Given the description of an element on the screen output the (x, y) to click on. 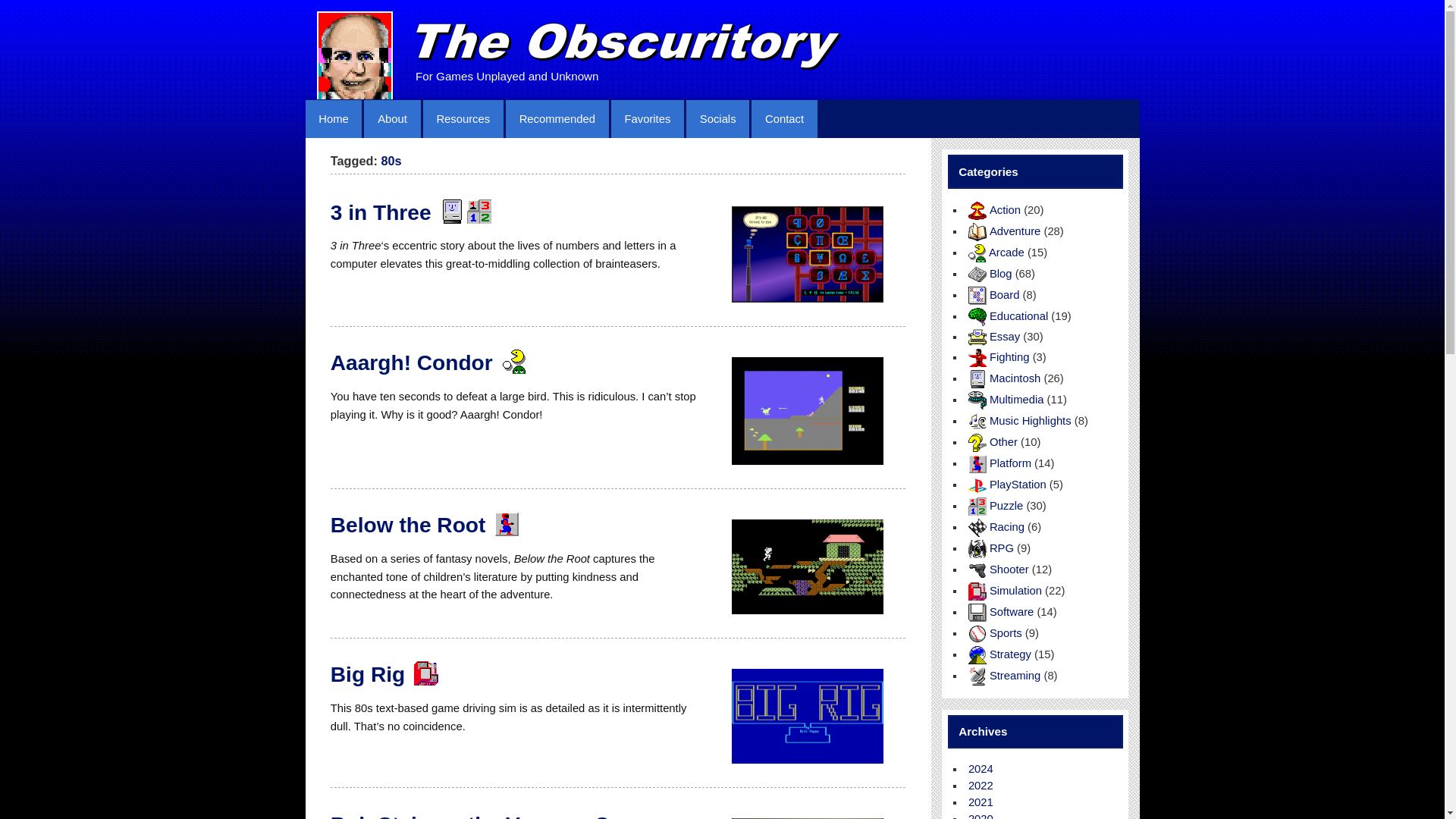
Favorites (647, 118)
Macintosh (450, 211)
Below the Root (408, 525)
Platform (505, 525)
The Obscuritory (629, 46)
The Obscuritory (354, 55)
3 in Three (380, 212)
Resources (463, 118)
Socials (717, 118)
